Given the description of an element on the screen output the (x, y) to click on. 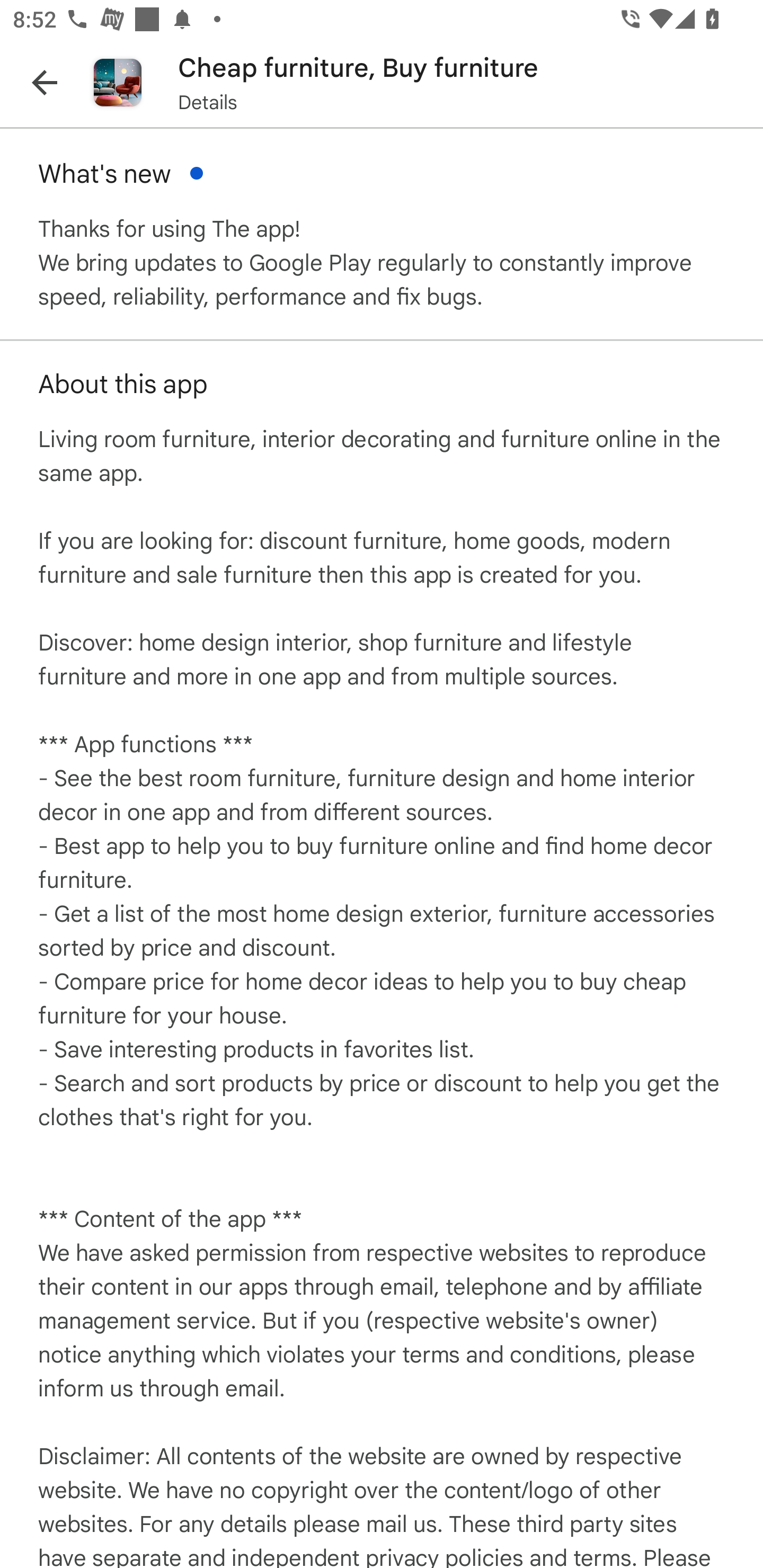
Navigate up (44, 82)
